Given the description of an element on the screen output the (x, y) to click on. 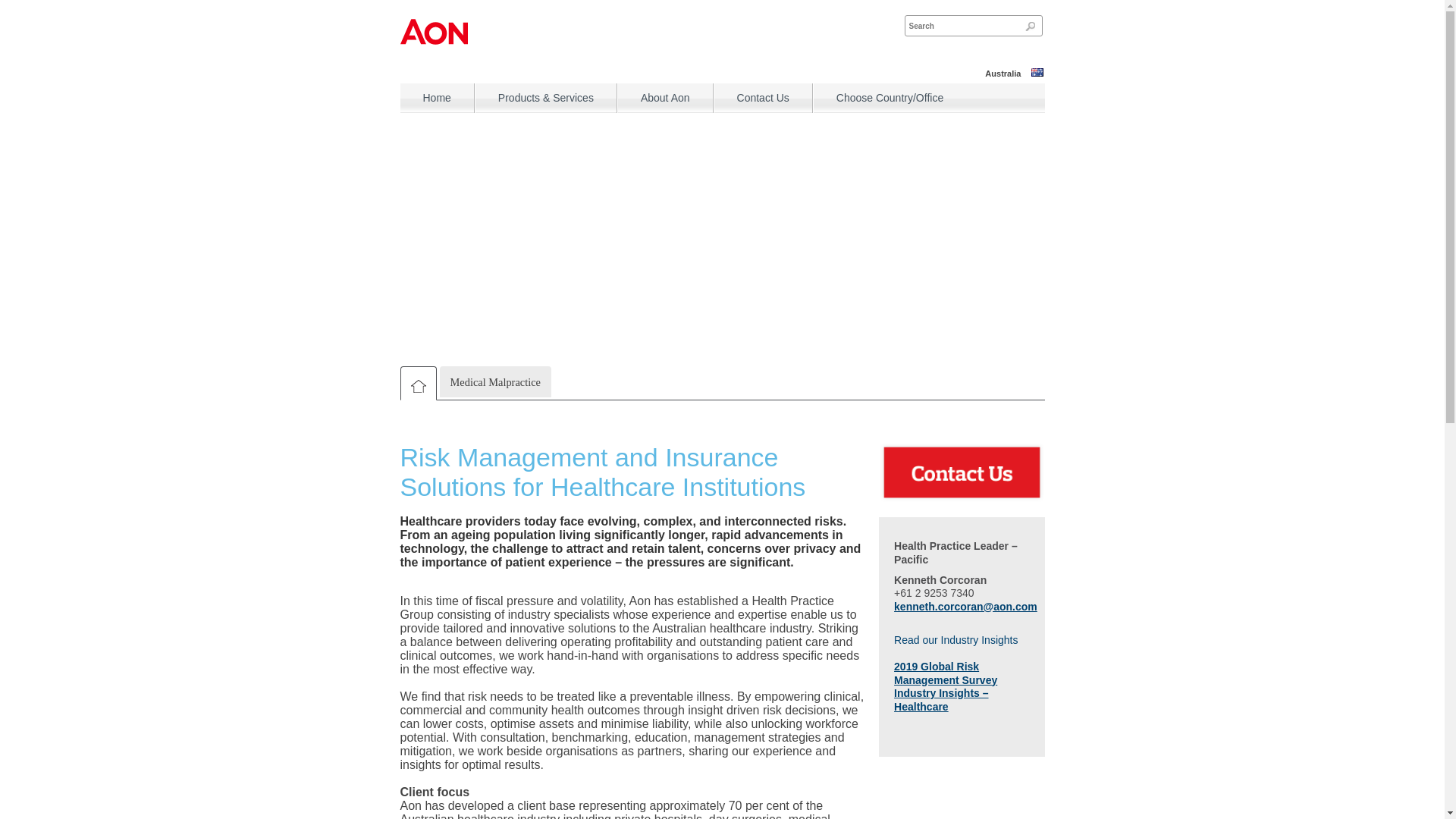
Home (437, 97)
Medical Malpractice (495, 382)
